Given the description of an element on the screen output the (x, y) to click on. 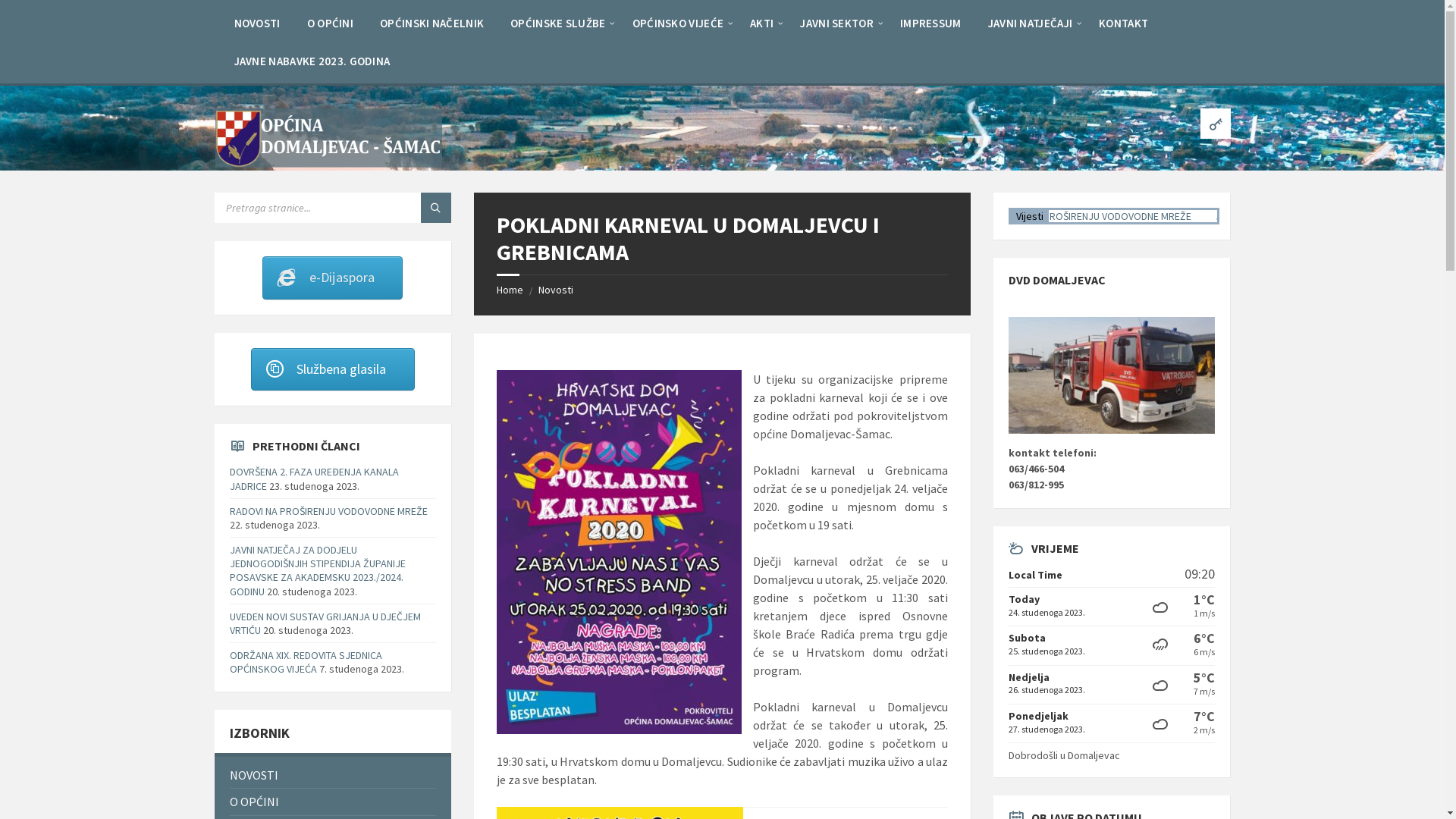
JAVNI SEKTOR Element type: text (836, 22)
Prijava / Registracija Element type: hover (1214, 123)
e-Dijaspora Element type: text (332, 277)
Novosti Element type: text (555, 289)
NOVOSTI Element type: text (256, 22)
AKTI Element type: text (761, 22)
JAVNE NABAVKE 2023. GODINA Element type: text (311, 60)
IMPRESSUM Element type: text (930, 22)
NOVOSTI Element type: text (332, 775)
KONTAKT Element type: text (1123, 22)
Home Element type: text (509, 289)
Submit search Element type: hover (435, 207)
